Given the description of an element on the screen output the (x, y) to click on. 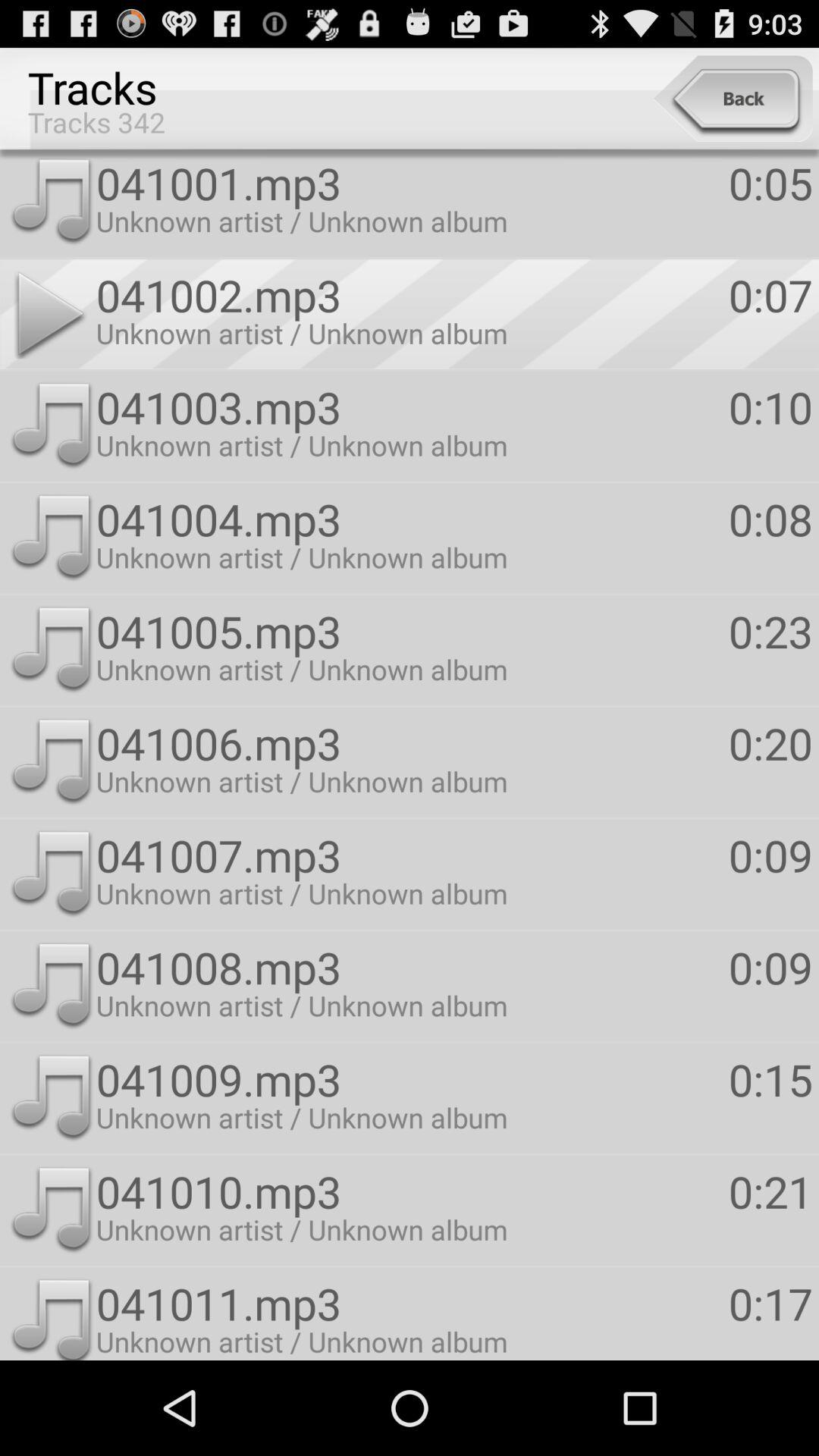
click the icon to the right of the tracks 342 icon (732, 98)
